Given the description of an element on the screen output the (x, y) to click on. 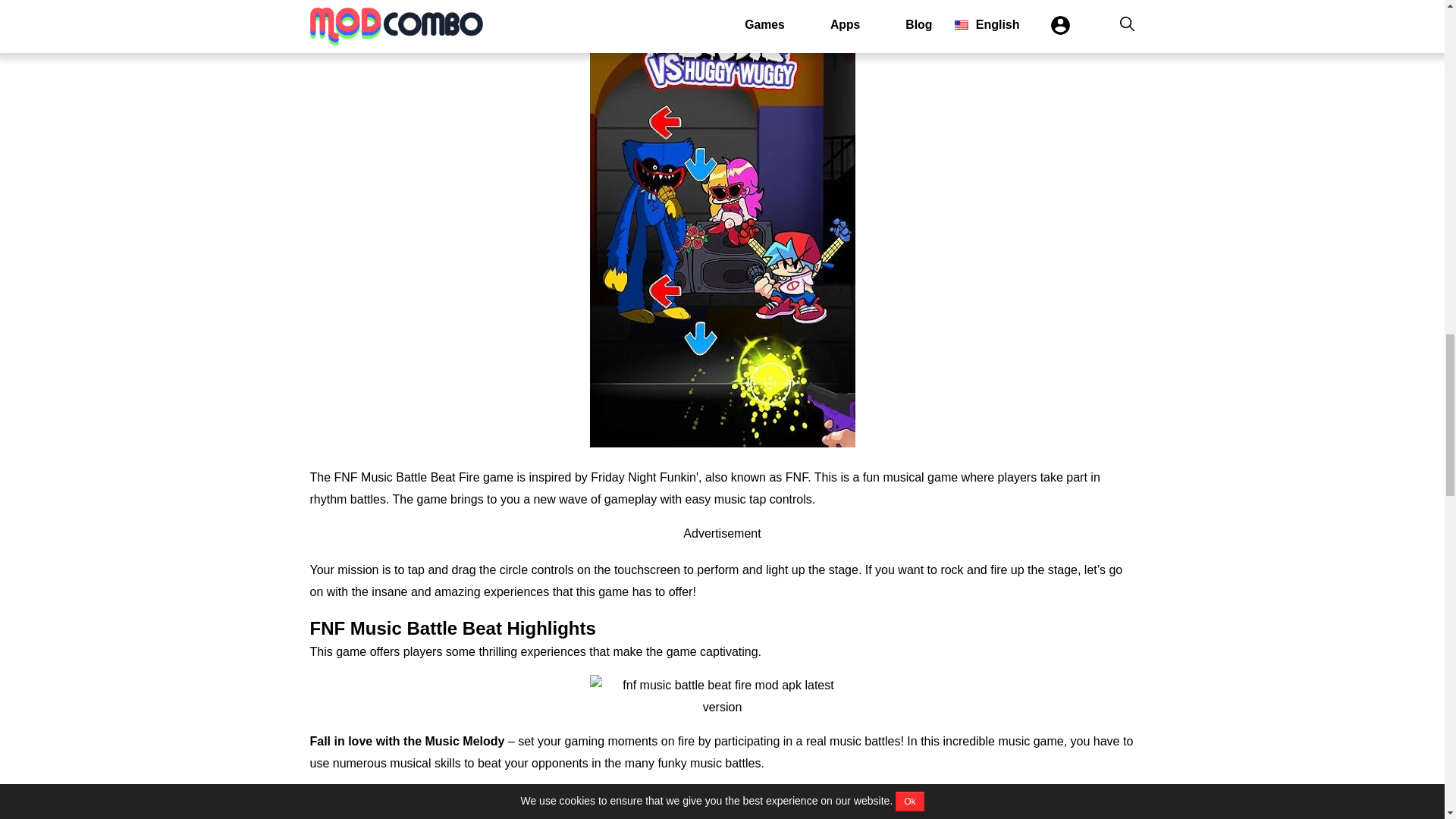
fnf music battle beat fire mod apk latest version (722, 696)
